Given the description of an element on the screen output the (x, y) to click on. 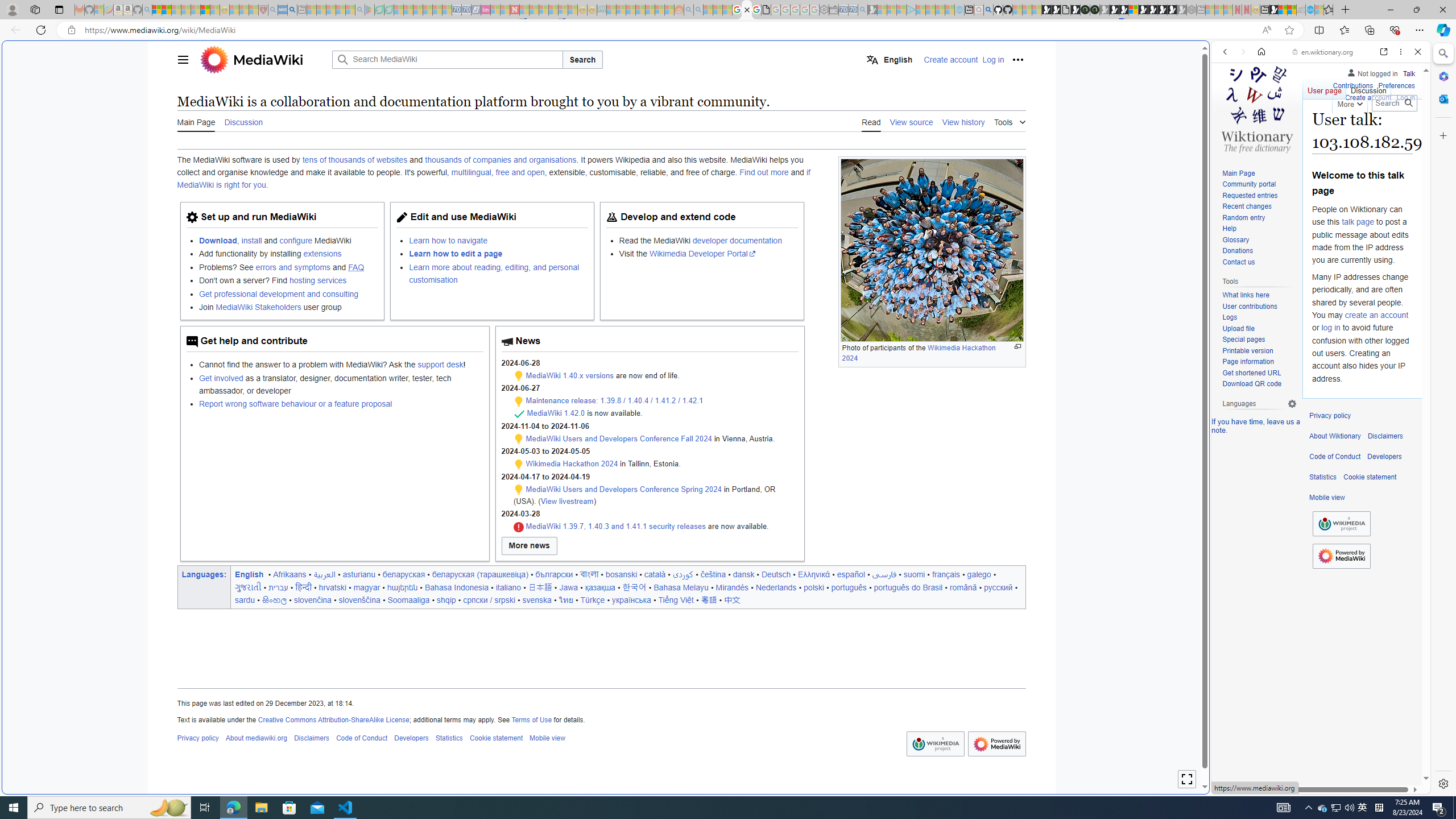
Developers (1384, 456)
suomi (914, 574)
This page was last edited on 29 December 2023, at 18:14. (601, 703)
MediaWiki Stakeholders (258, 307)
Code of Conduct (1334, 456)
Privacy policy (1329, 415)
